Given the description of an element on the screen output the (x, y) to click on. 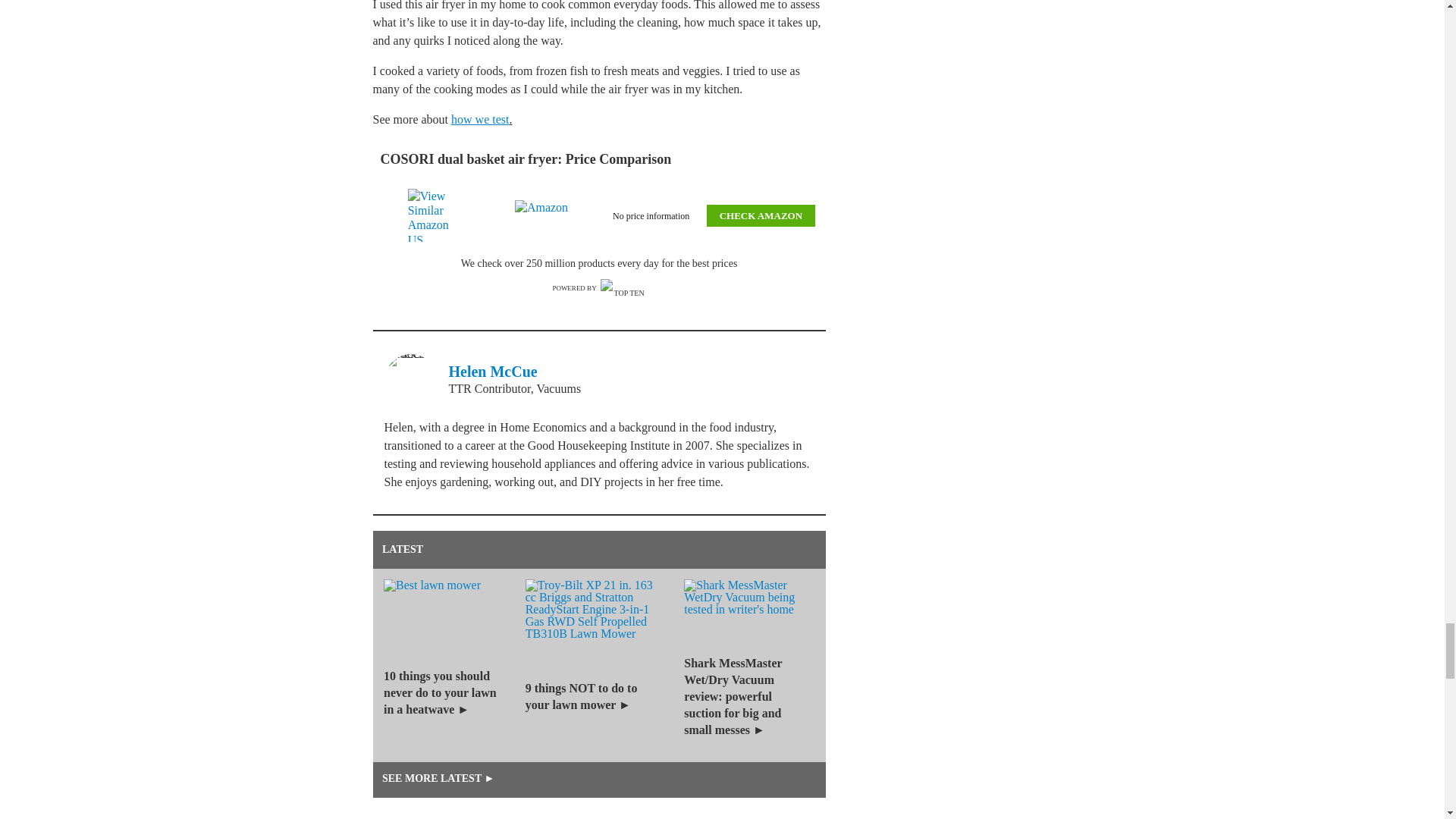
Top Ten Reviews (622, 288)
Amazon (545, 214)
View Similar Amazon US (437, 215)
